Given the description of an element on the screen output the (x, y) to click on. 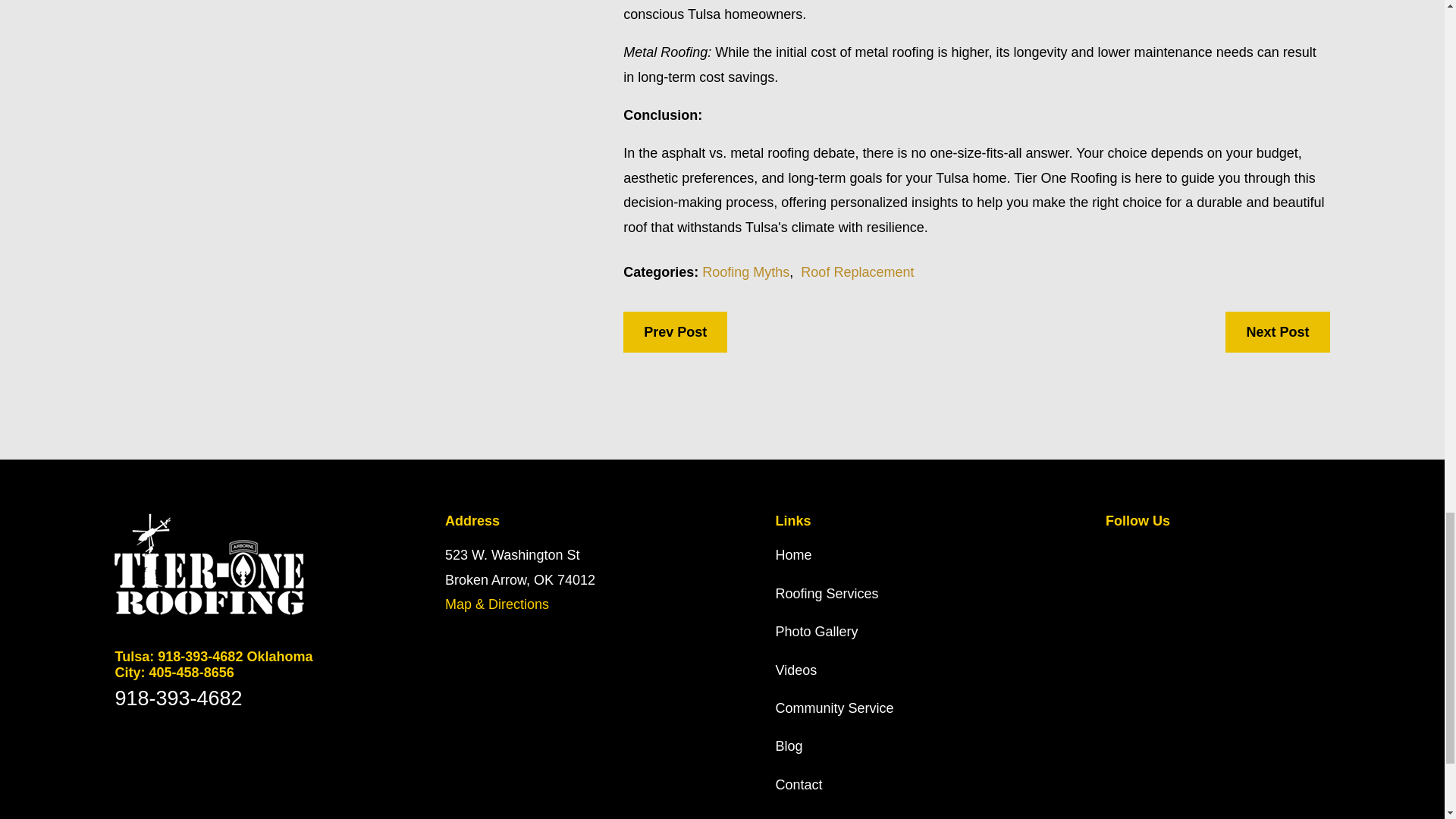
Google Business Profile (1114, 551)
YouTube (1233, 551)
Instagram (1272, 551)
Yelp (1194, 551)
Home (224, 564)
Facebook (1153, 551)
